Given the description of an element on the screen output the (x, y) to click on. 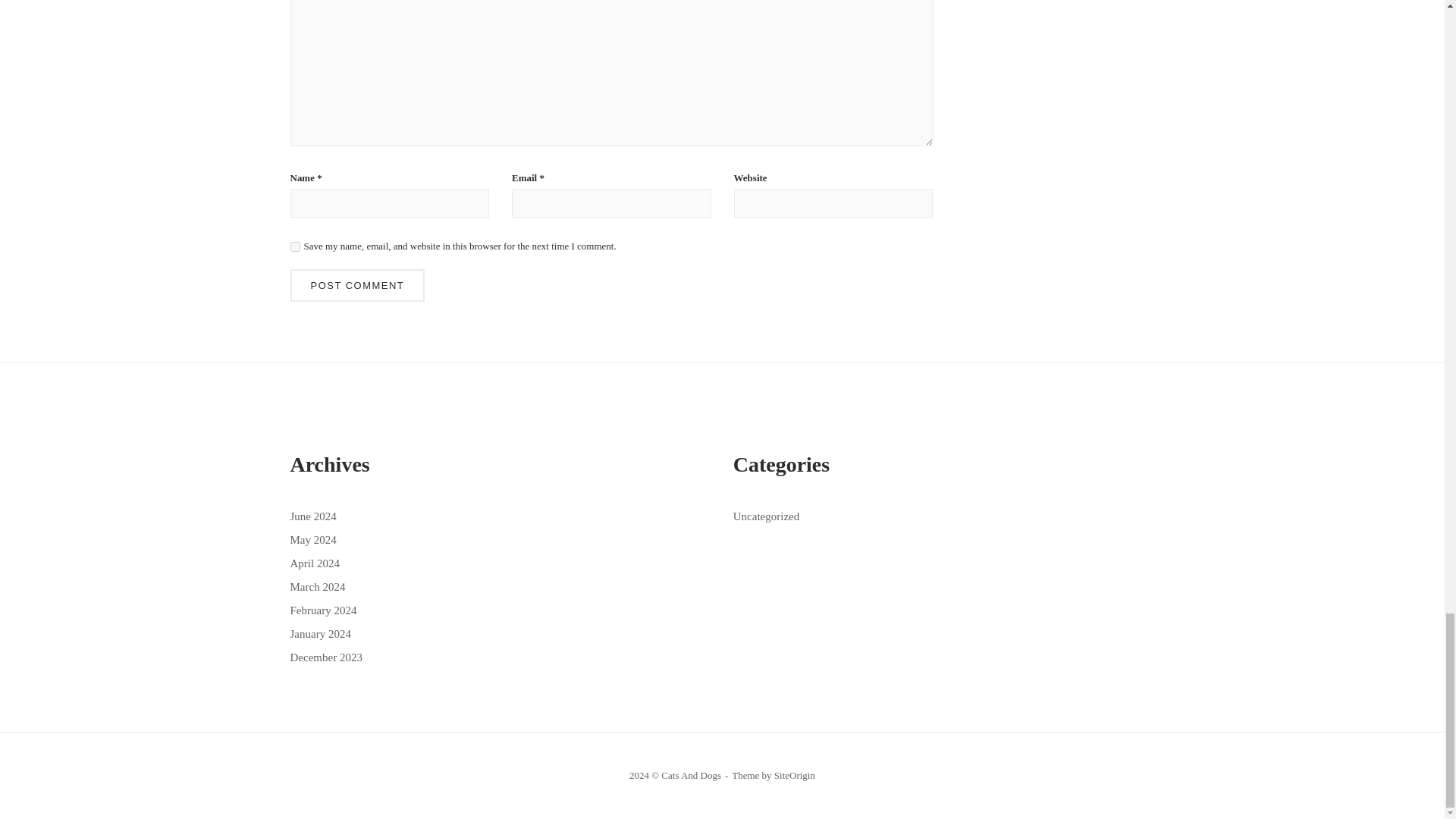
February 2024 (322, 610)
March 2024 (317, 586)
SiteOrigin (794, 775)
May 2024 (312, 539)
December 2023 (325, 657)
yes (294, 246)
June 2024 (312, 516)
April 2024 (314, 563)
Post Comment (357, 285)
Post Comment (357, 285)
January 2024 (319, 633)
Uncategorized (766, 516)
